Given the description of an element on the screen output the (x, y) to click on. 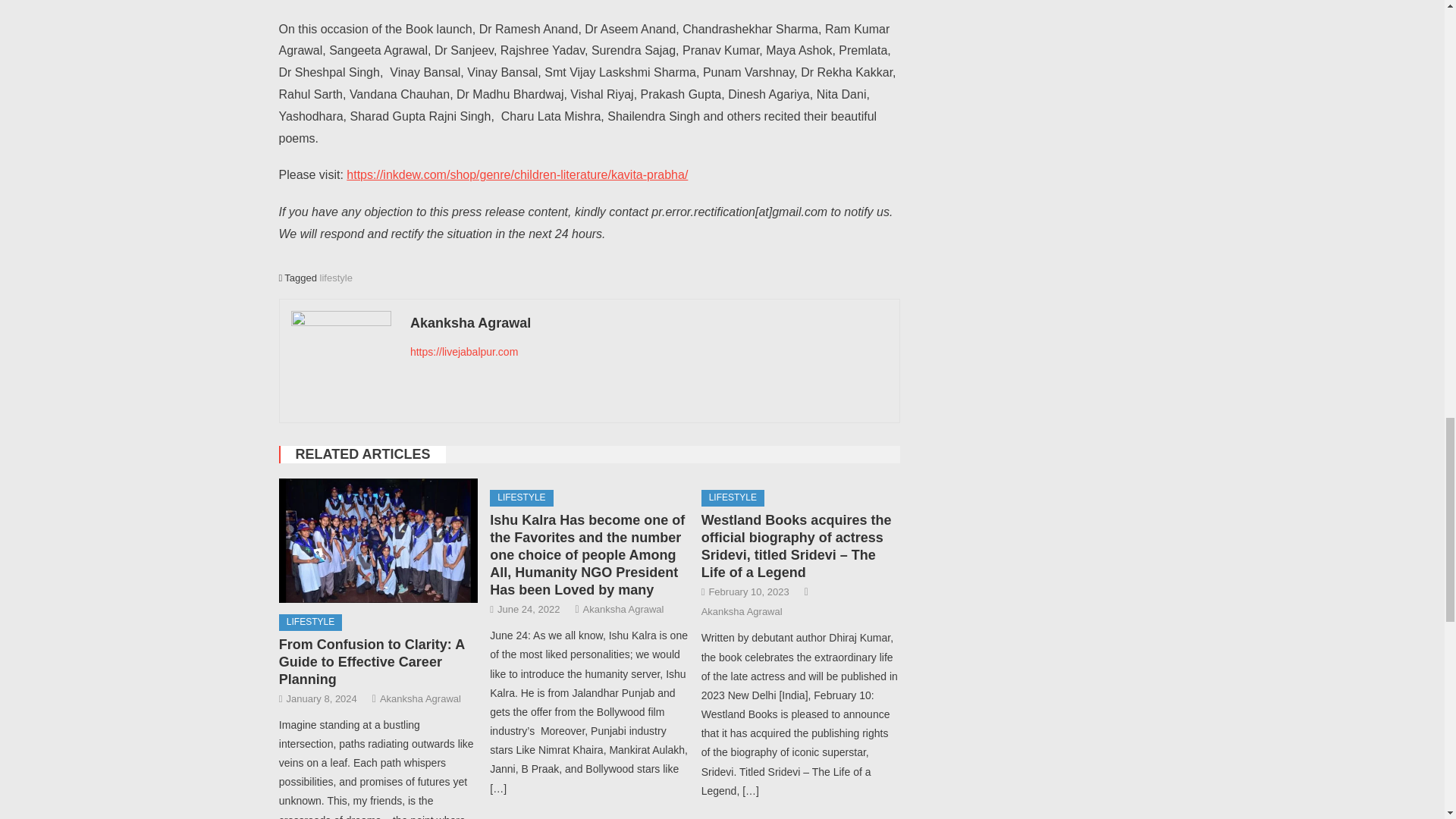
January 8, 2024 (321, 698)
Akanksha Agrawal (420, 698)
lifestyle (336, 277)
LIFESTYLE (310, 622)
Akanksha Agrawal (649, 322)
